Given the description of an element on the screen output the (x, y) to click on. 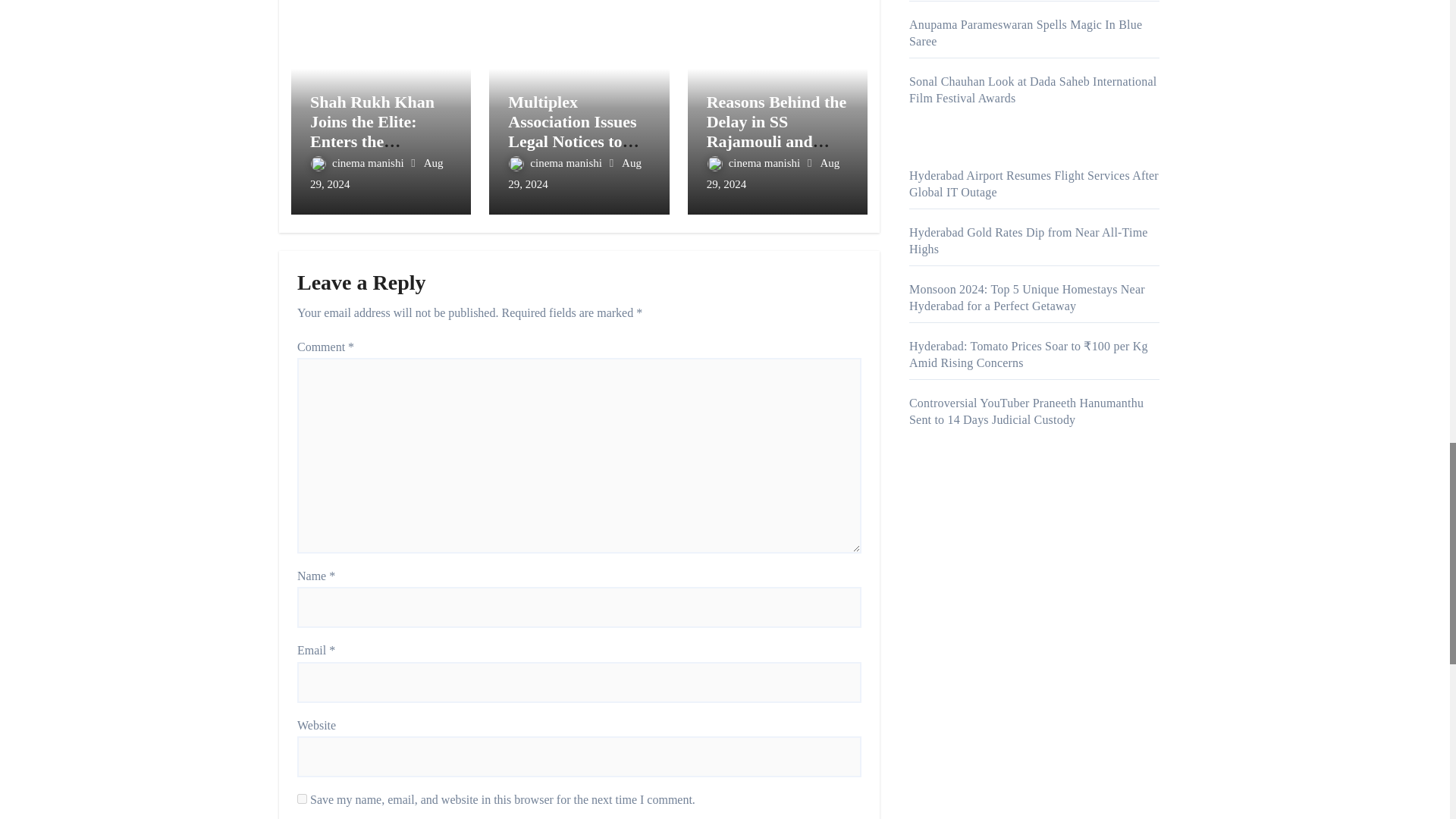
yes (302, 798)
